Given the description of an element on the screen output the (x, y) to click on. 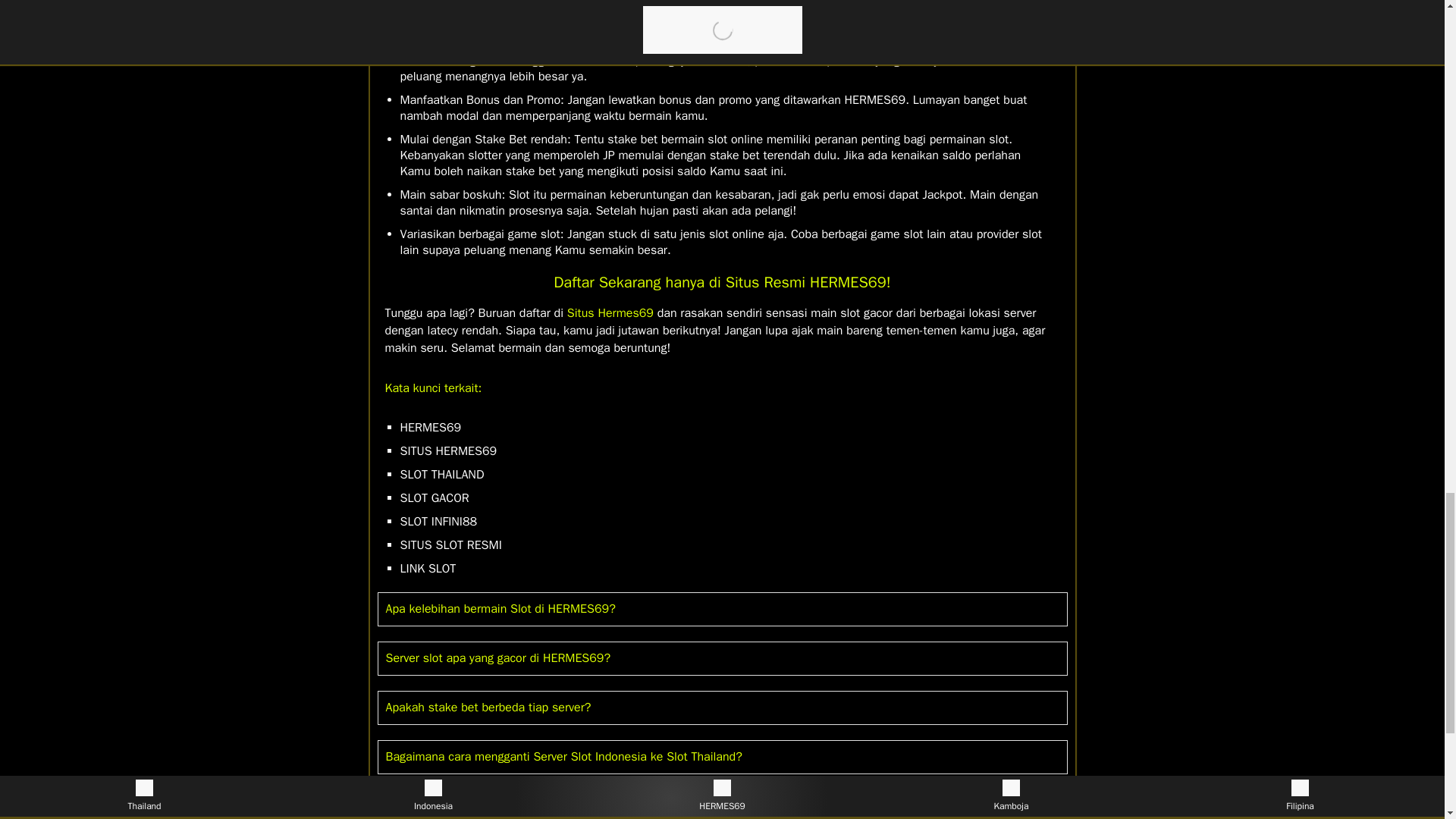
Situs Hermes69 (610, 313)
Slot Gacor (528, 2)
